Given the description of an element on the screen output the (x, y) to click on. 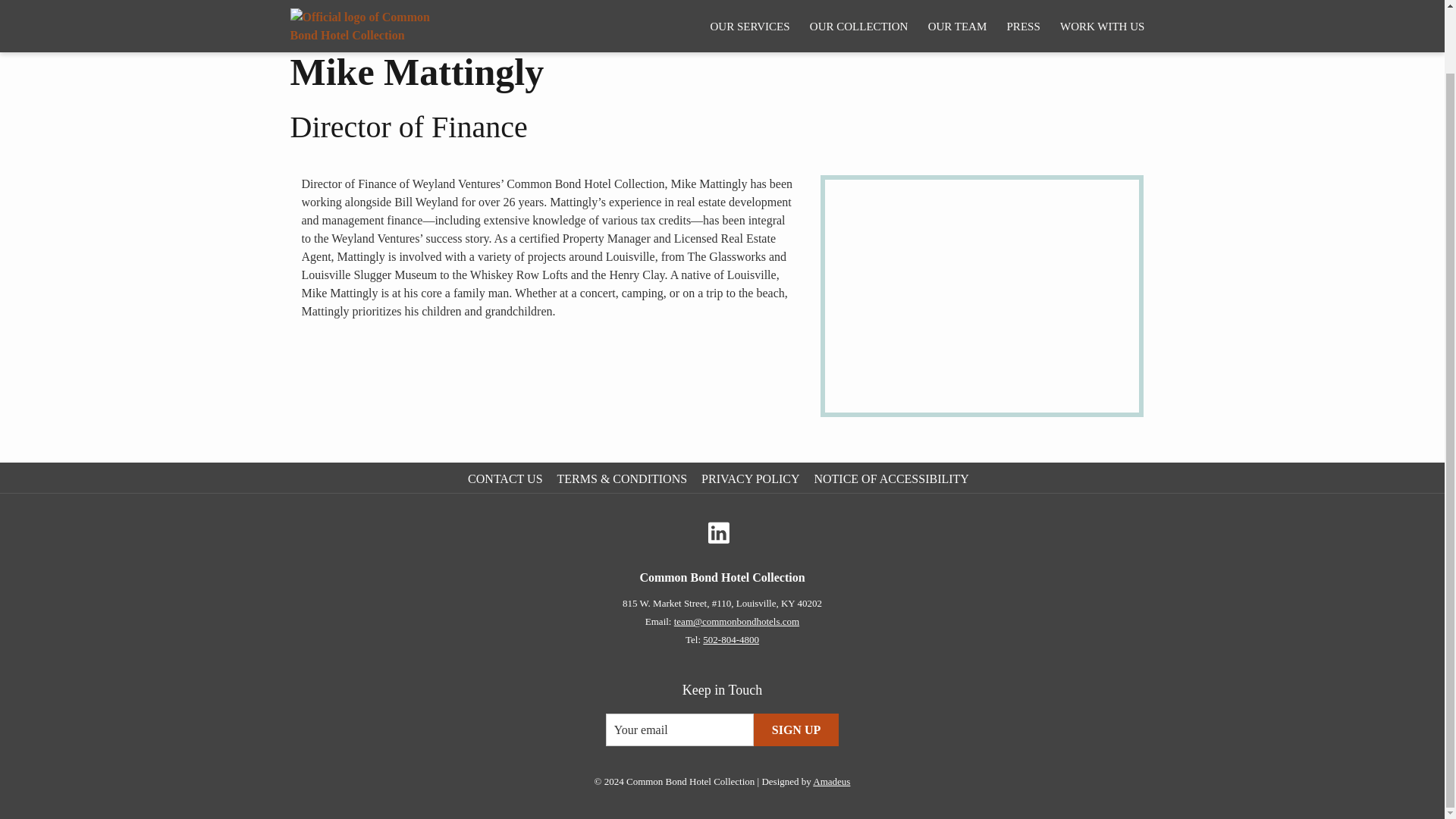
SIGN UP (796, 729)
Amadeus (831, 781)
PRIVACY POLICY (752, 478)
BACK TO THE LIST (355, 7)
502-804-4800 (730, 639)
NOTICE OF ACCESSIBILITY (892, 478)
NEXT (1123, 7)
PREVIOUS (1046, 7)
CONTACT US (506, 478)
